Given the description of an element on the screen output the (x, y) to click on. 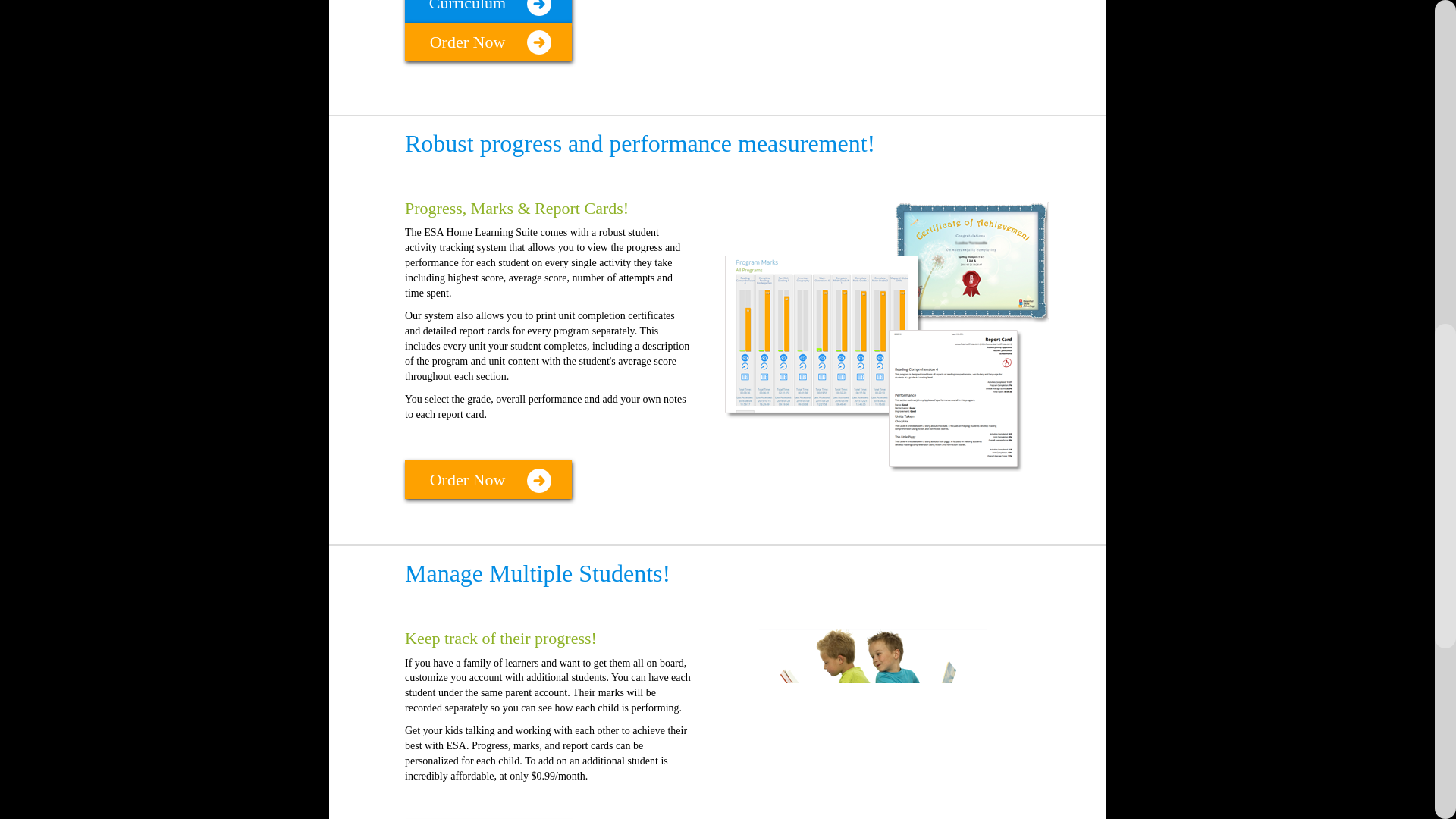
Curriculum (488, 11)
Order Now (488, 41)
Order Now (488, 479)
